Given the description of an element on the screen output the (x, y) to click on. 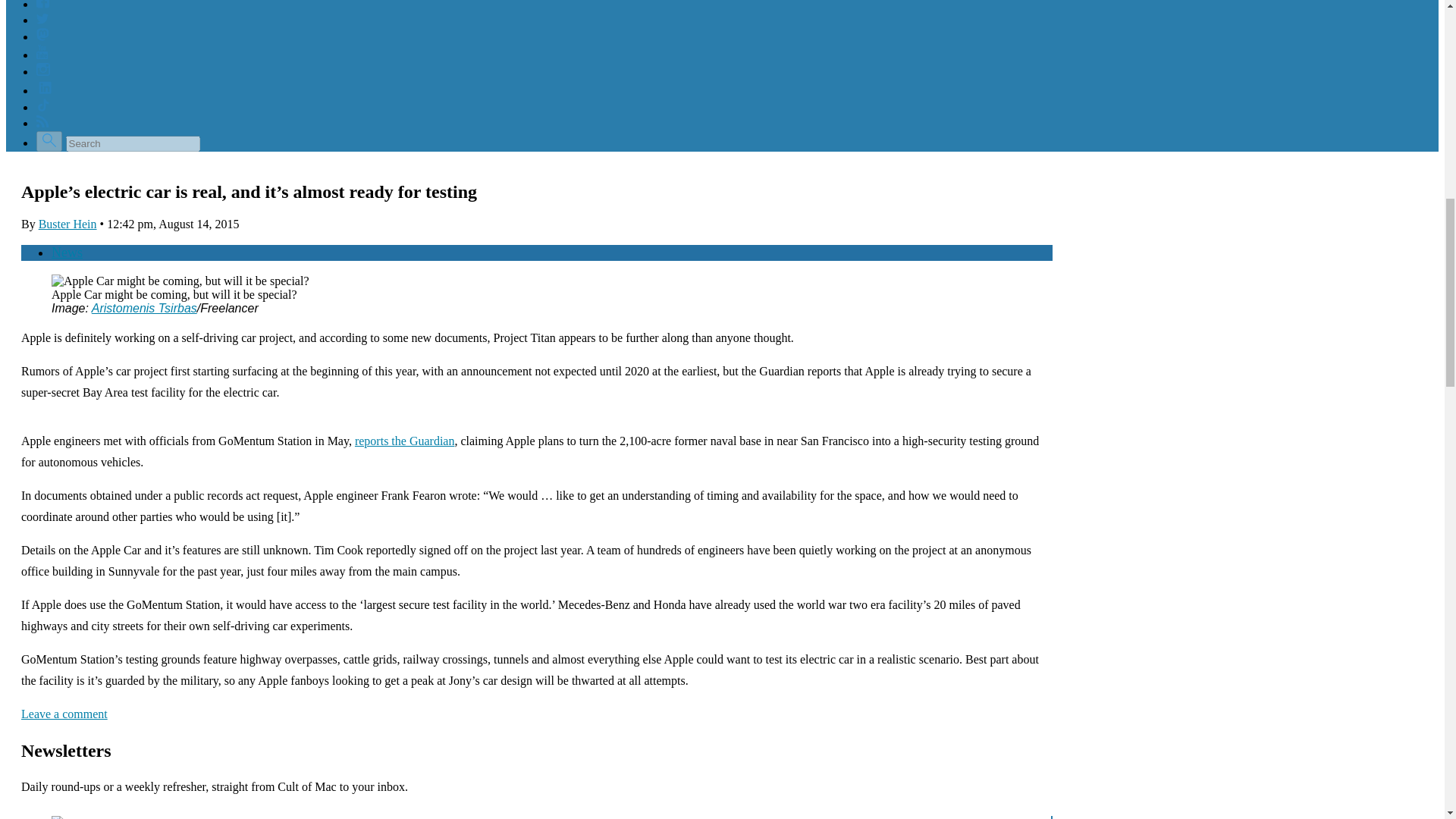
Posts by Buster Hein (68, 223)
